Given the description of an element on the screen output the (x, y) to click on. 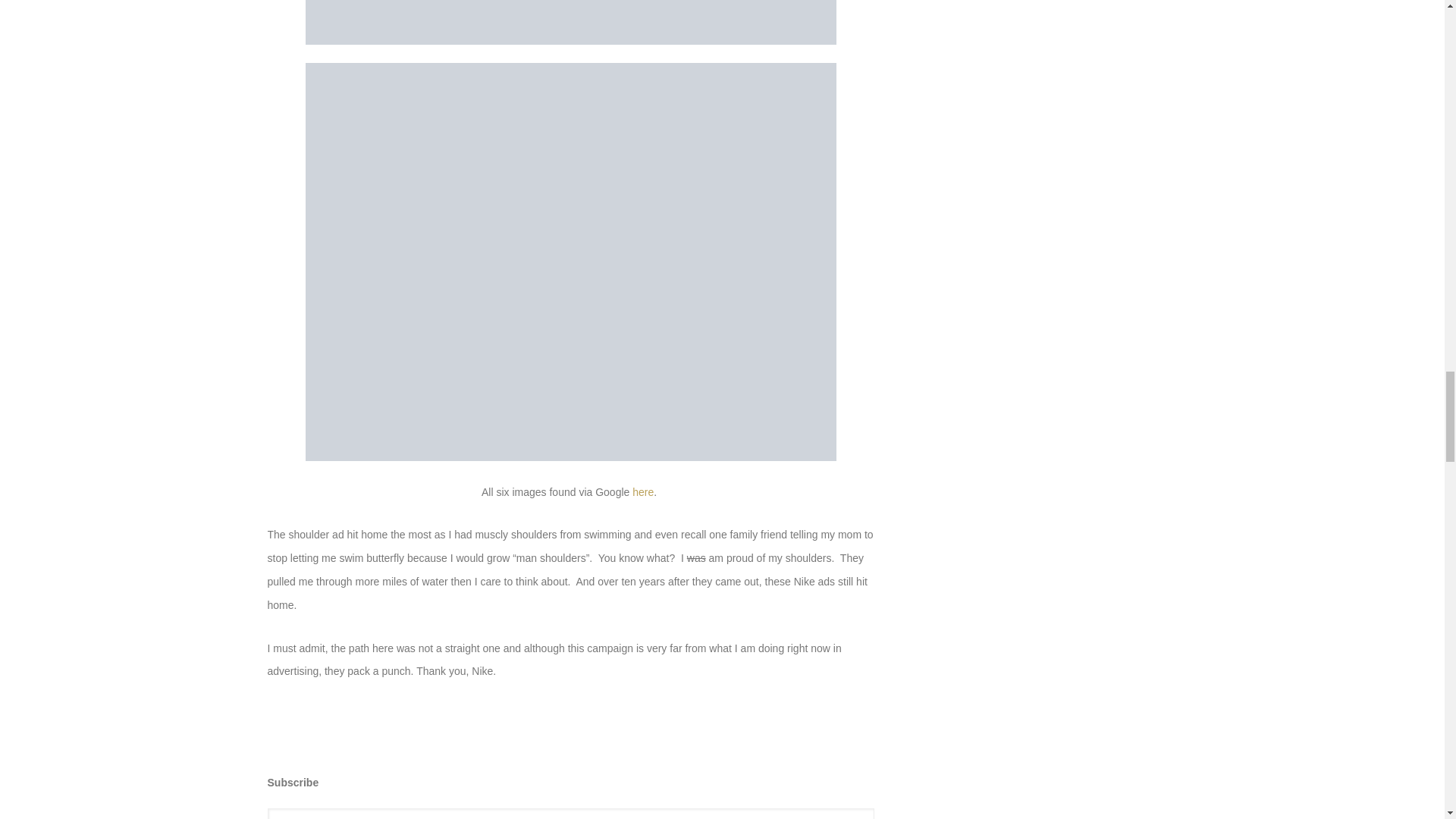
Nike Women Things Ads (642, 491)
